Given the description of an element on the screen output the (x, y) to click on. 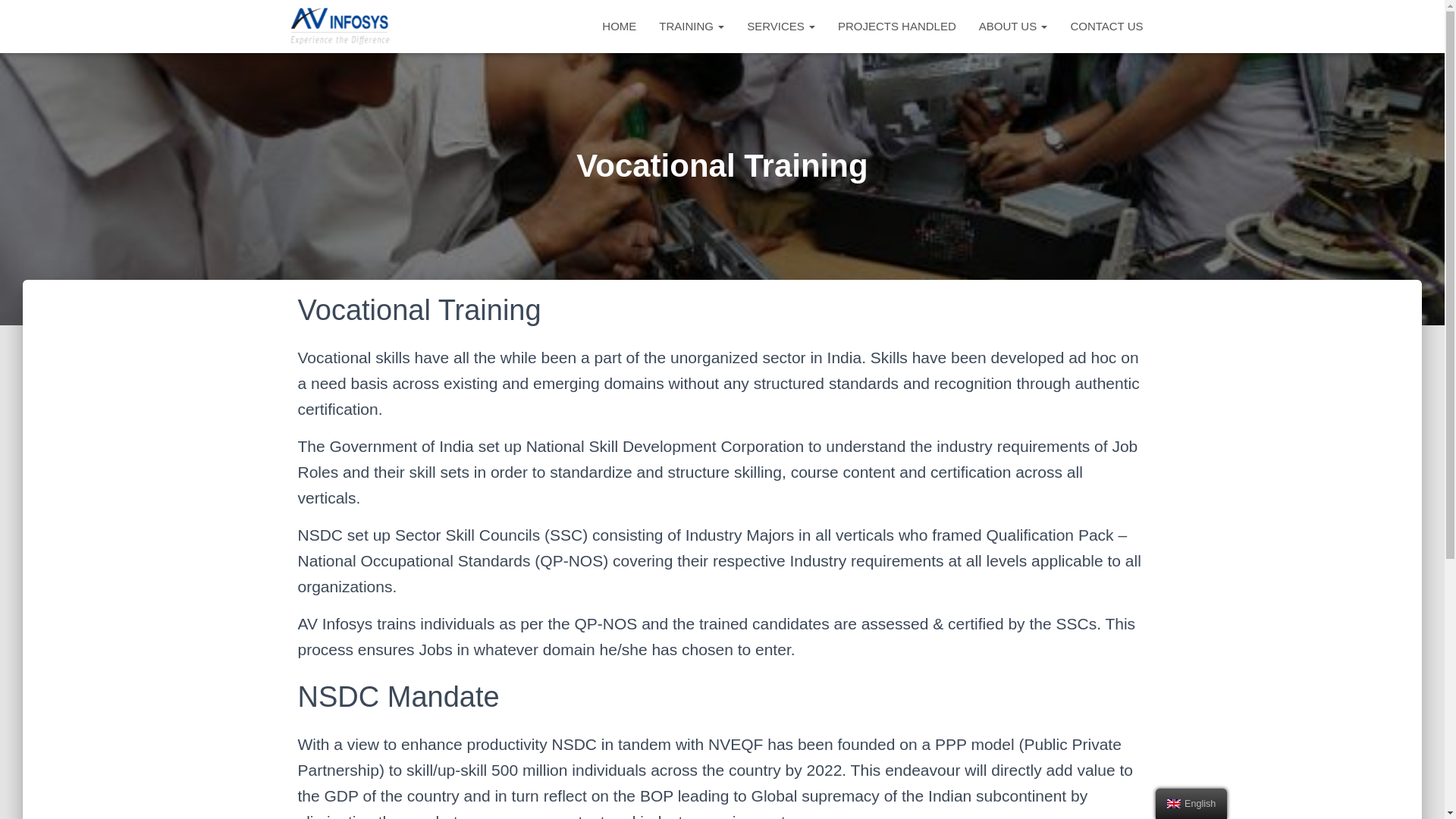
SERVICES (781, 26)
AV Infosys (341, 26)
HOME (619, 26)
HOME (619, 26)
Training (691, 26)
TRAINING (691, 26)
